Given the description of an element on the screen output the (x, y) to click on. 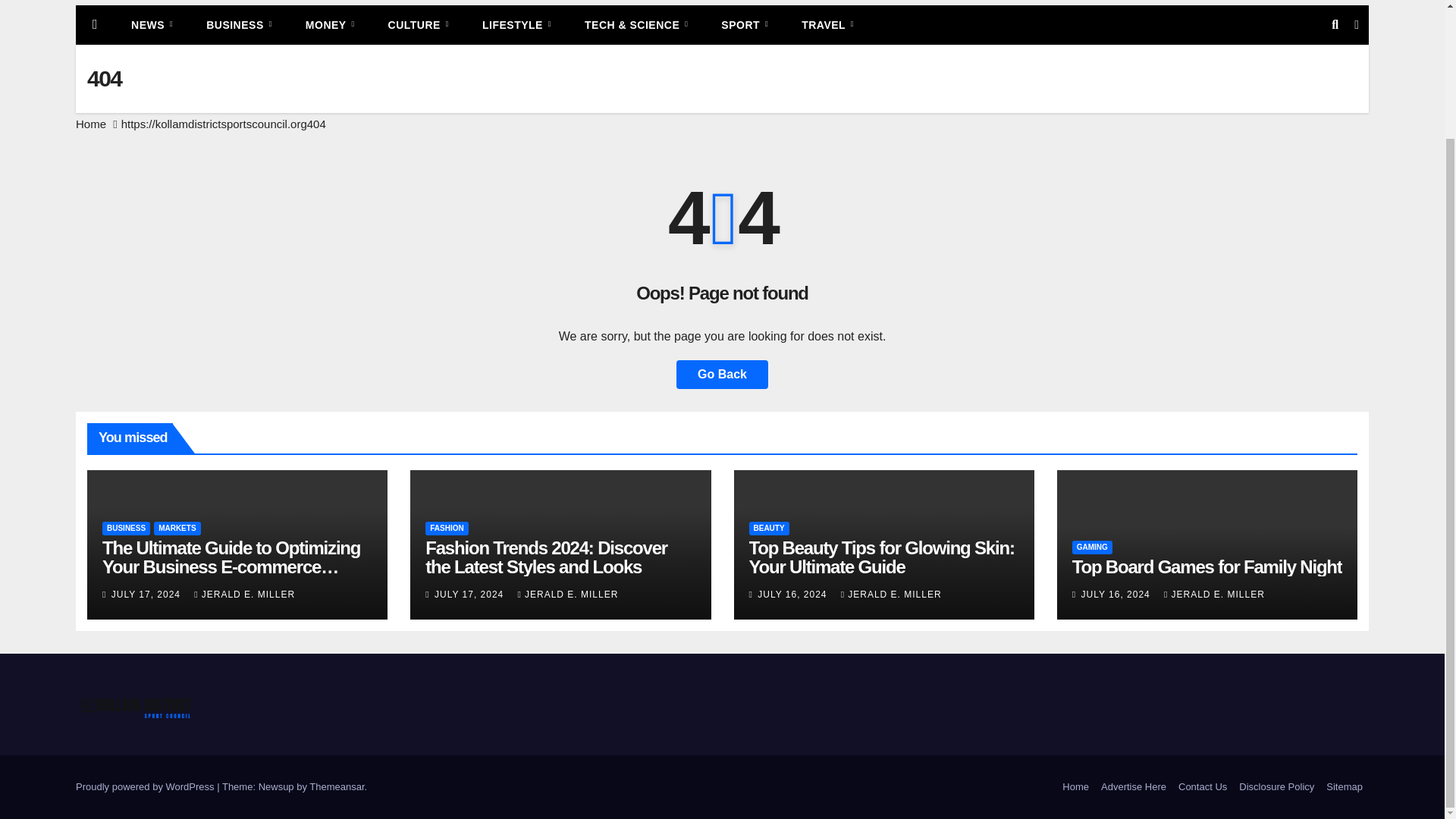
MONEY (329, 24)
Business (238, 24)
News (152, 24)
BUSINESS (238, 24)
NEWS (152, 24)
